Given the description of an element on the screen output the (x, y) to click on. 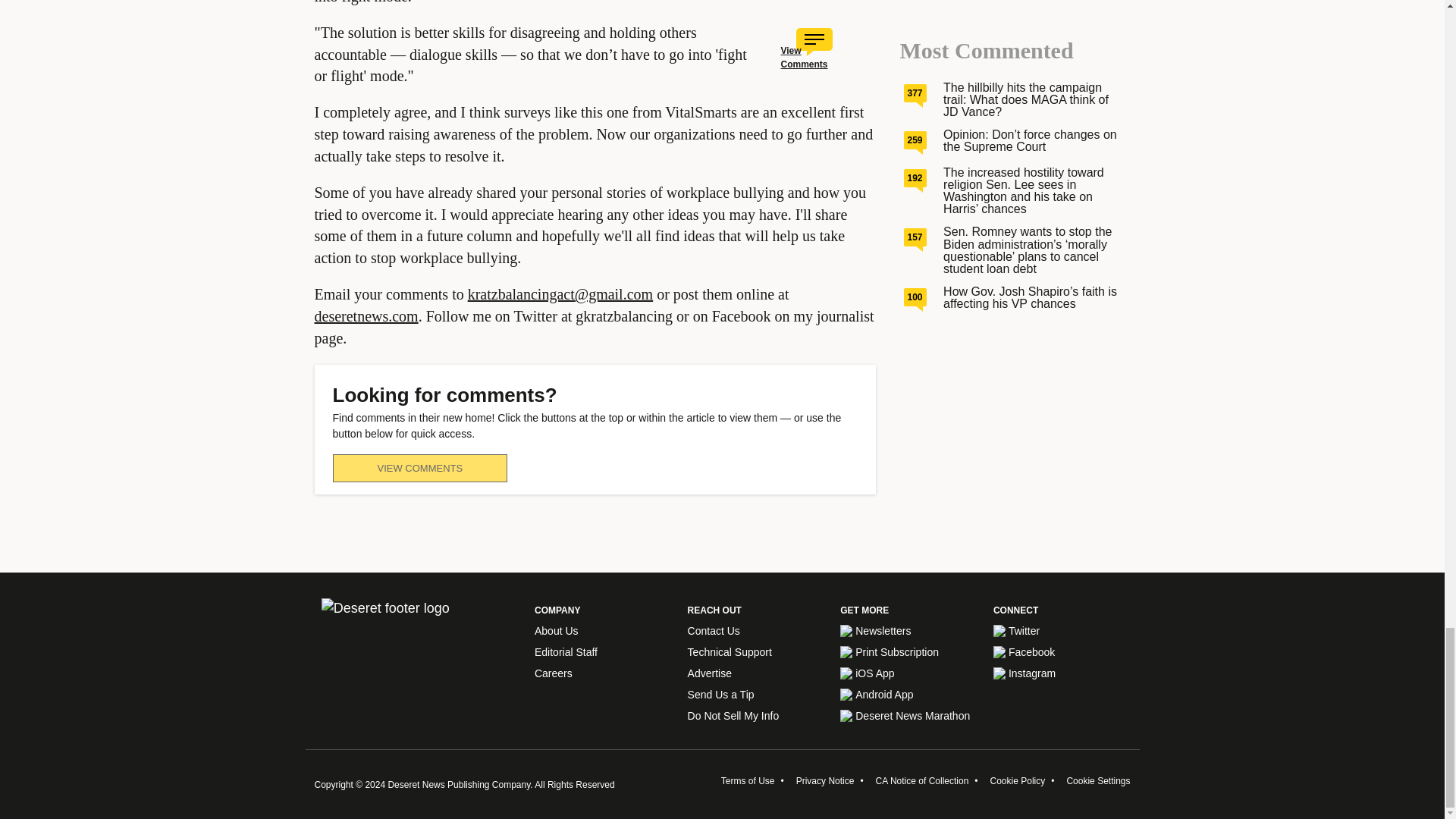
deseretnews.com (365, 315)
VIEW COMMENTS (418, 468)
